Given the description of an element on the screen output the (x, y) to click on. 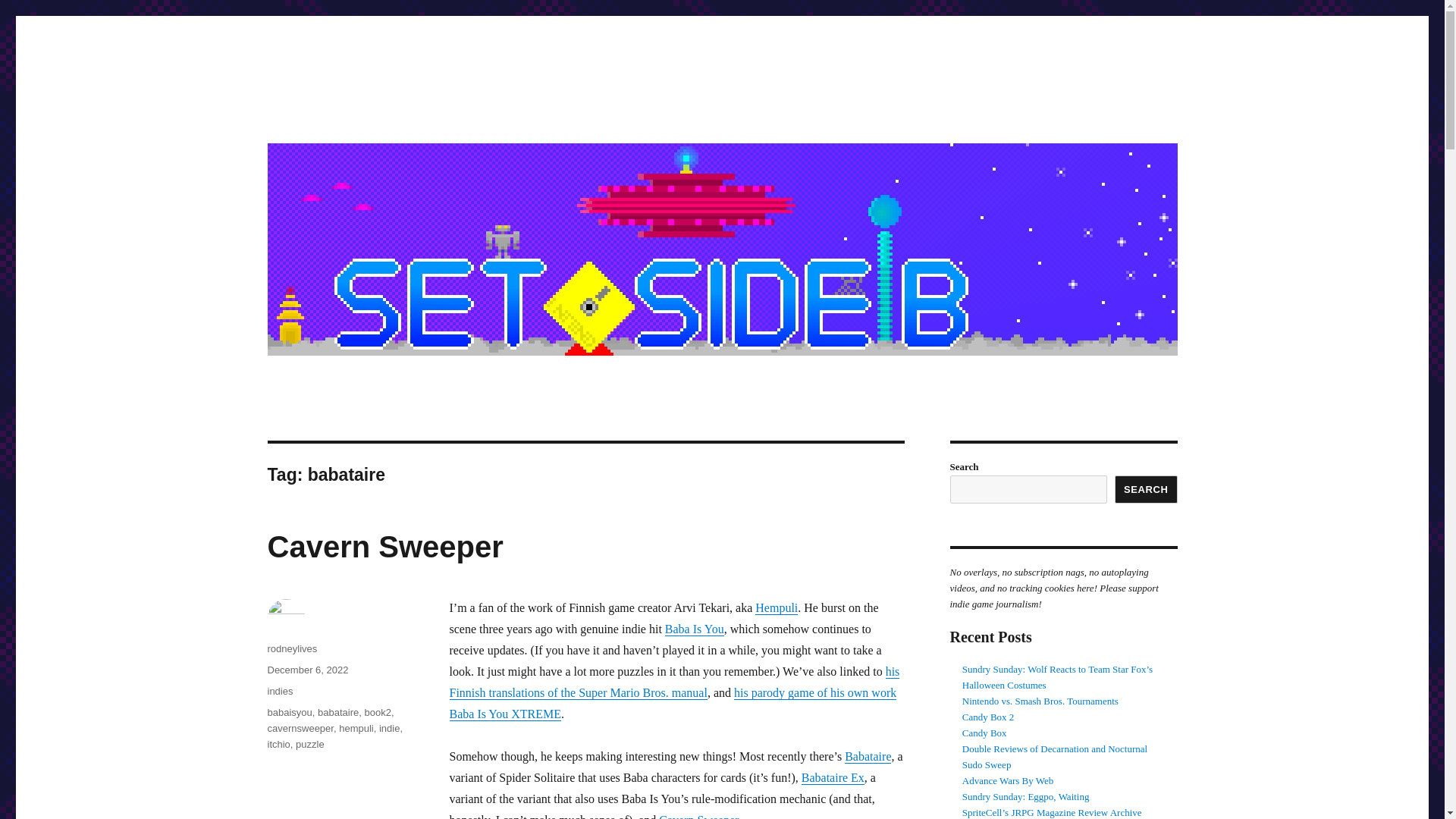
his Finnish translations of the Super Mario Bros. manual (673, 682)
hempuli (356, 727)
indies (279, 690)
puzzle (309, 744)
itchio (277, 744)
cavernsweeper (299, 727)
Baba Is You (694, 628)
Babataire (867, 756)
Hempuli (776, 607)
Cavern Sweeper (384, 546)
